Given the description of an element on the screen output the (x, y) to click on. 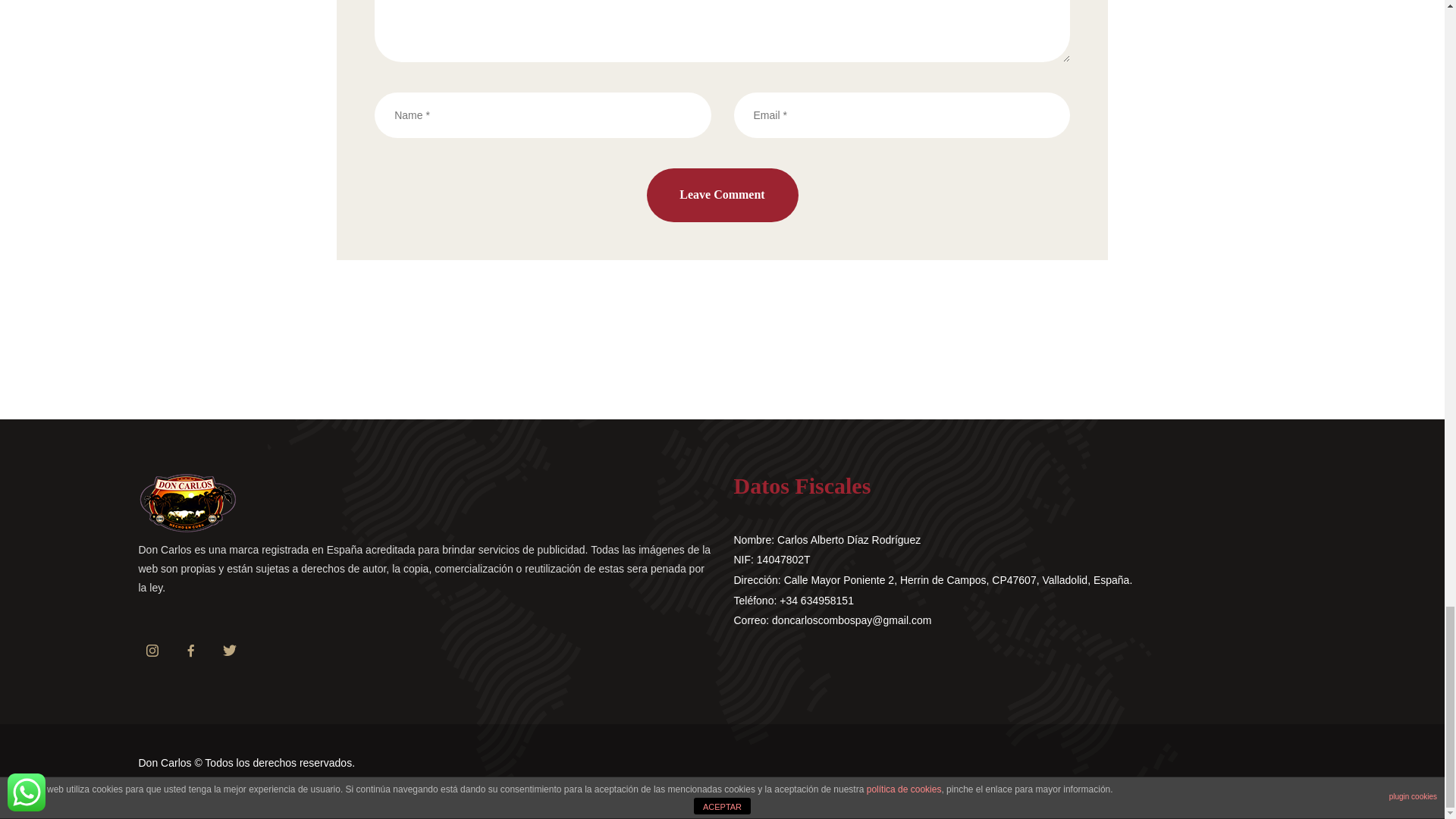
Leave Comment (721, 194)
Leave Comment (721, 194)
